Given the description of an element on the screen output the (x, y) to click on. 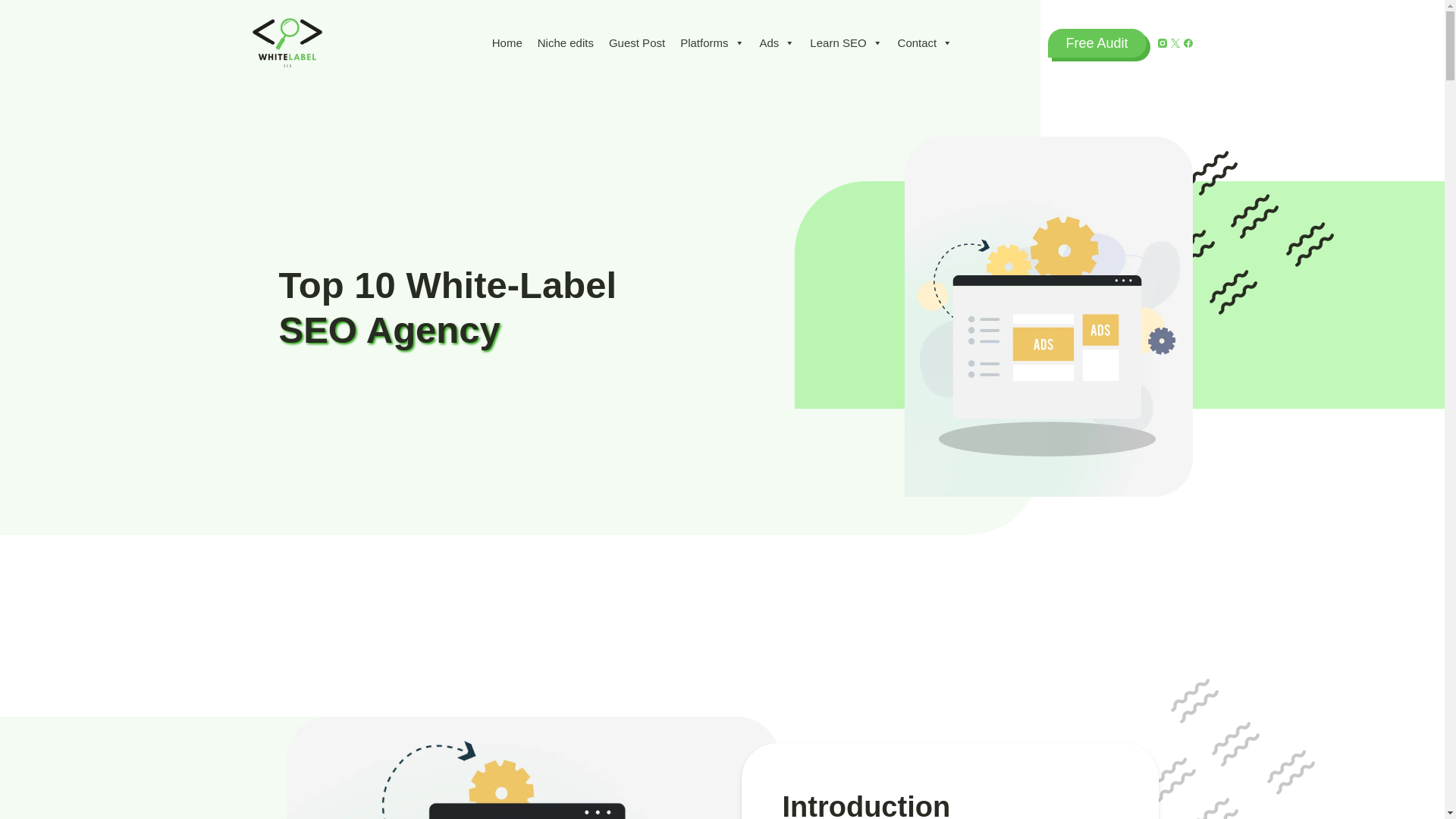
Contact (924, 42)
Free Audit (1097, 42)
Guest Post (636, 42)
Ads (777, 42)
Logo (286, 42)
Platforms (711, 42)
Niche edits (565, 42)
Learn SEO (845, 42)
Home (506, 42)
